Given the description of an element on the screen output the (x, y) to click on. 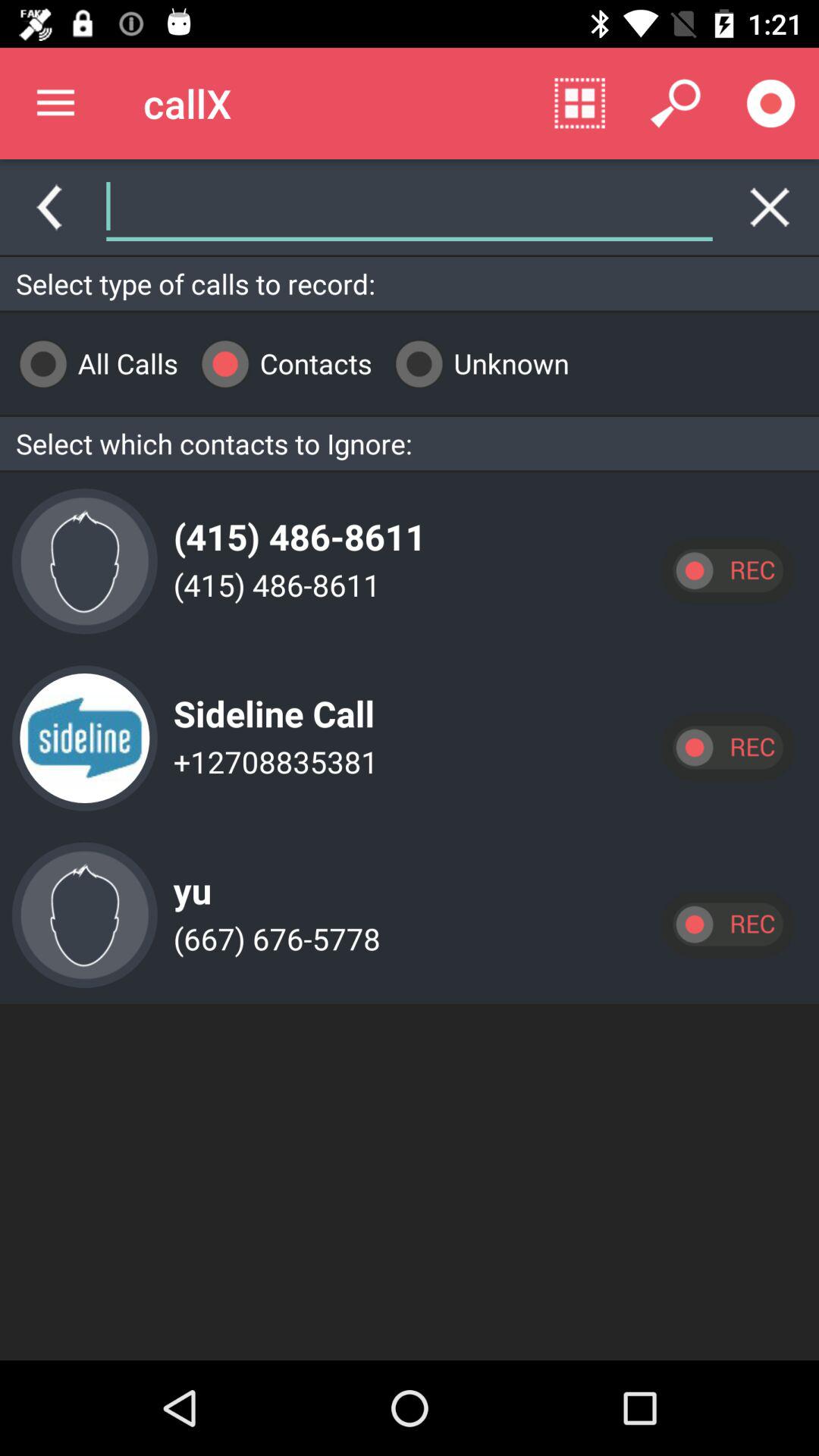
select (667) 676-5778 app (272, 938)
